Given the description of an element on the screen output the (x, y) to click on. 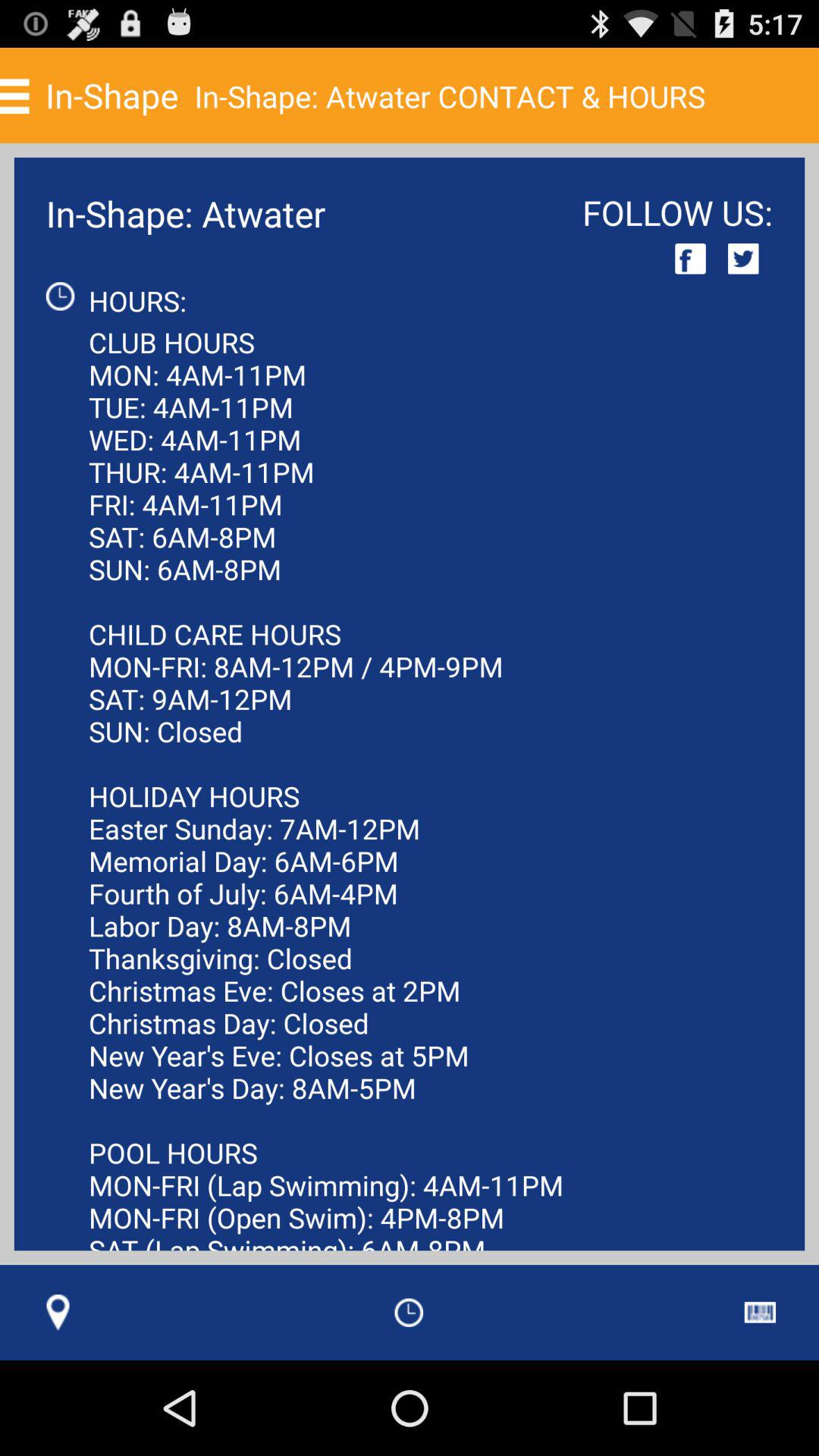
open icon at the bottom left corner (58, 1312)
